Given the description of an element on the screen output the (x, y) to click on. 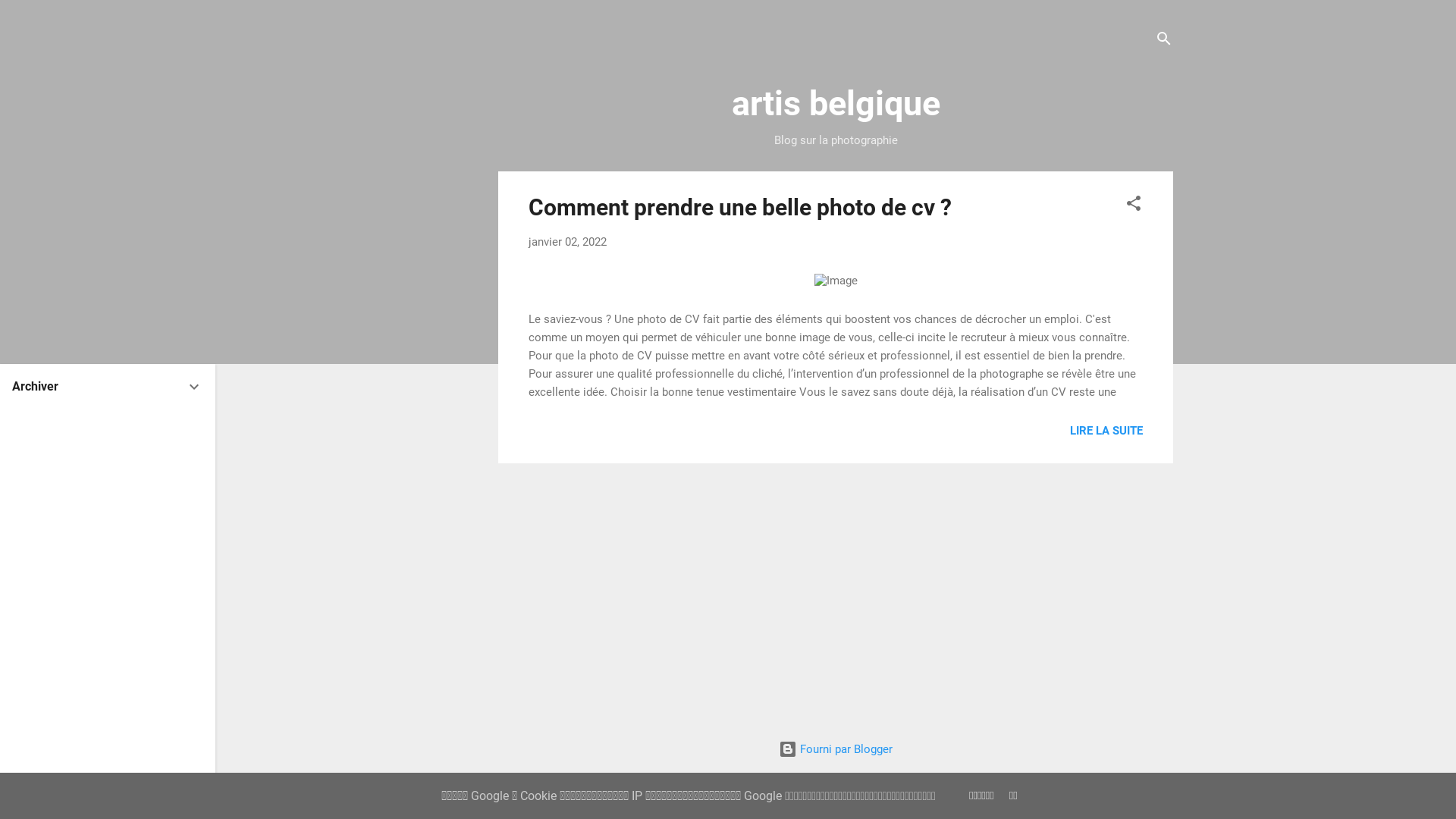
Rechercher Element type: text (42, 18)
LIRE LA SUITE Element type: text (1106, 430)
janvier 02, 2022 Element type: text (567, 241)
Michael Elkan Element type: text (876, 779)
Comment prendre une belle photo de cv ? Element type: text (739, 207)
Fourni par Blogger Element type: text (835, 749)
